Given the description of an element on the screen output the (x, y) to click on. 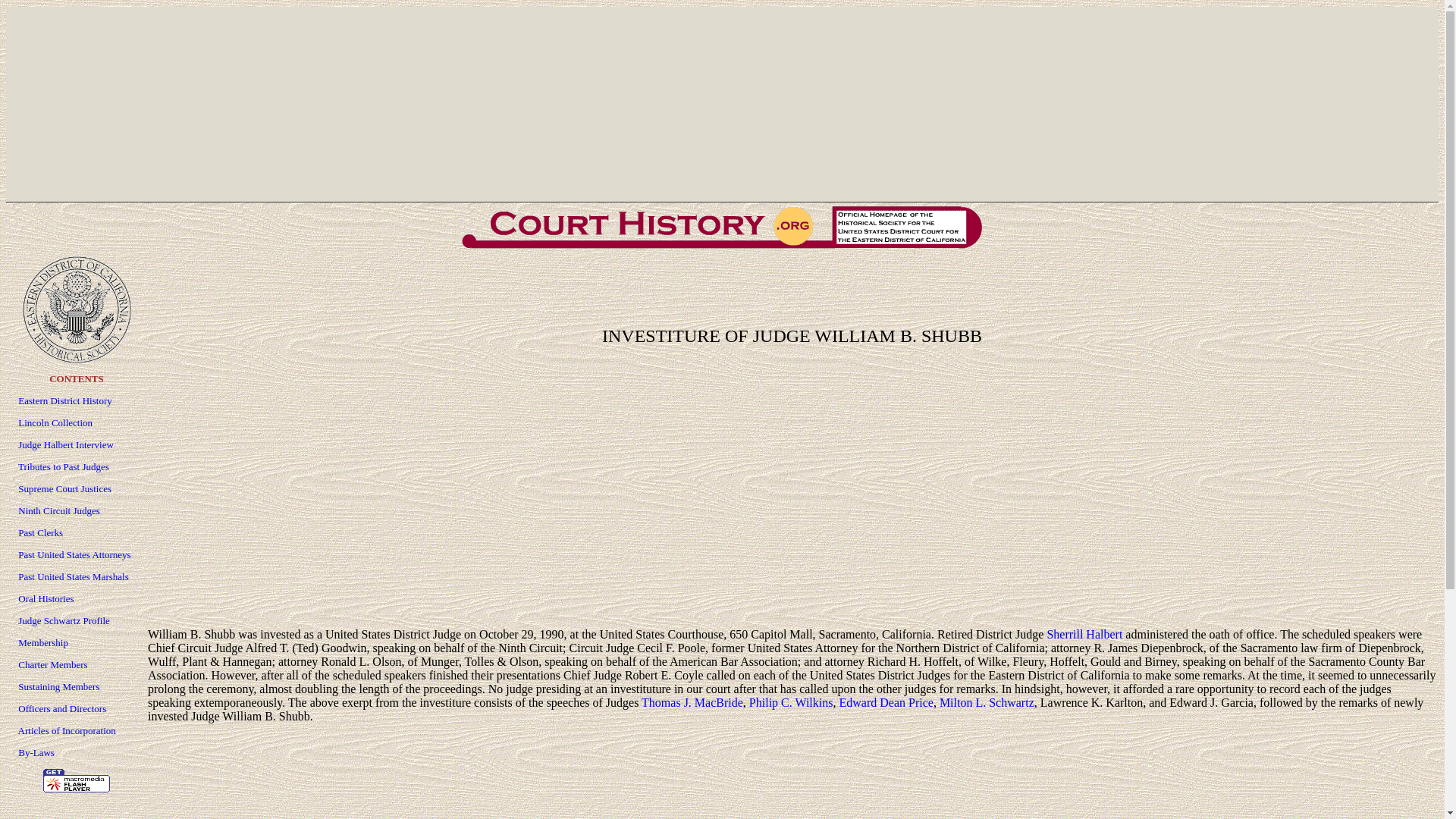
Officers and Directors (61, 708)
Past Clerks (39, 532)
Articles of Incorporation (66, 730)
Supreme Court Justices (64, 488)
Judge Halbert Interview (65, 444)
Lincoln Collection (55, 422)
Ninth Circuit Judges (58, 510)
Tributes to Past Judges (63, 466)
Thomas J. MacBride (692, 702)
Sherrill Halbert (1084, 634)
Charter Members (52, 664)
Membership (42, 642)
Judge Schwartz Profile (63, 620)
By-Laws (36, 752)
Milton L. Schwartz (986, 702)
